Given the description of an element on the screen output the (x, y) to click on. 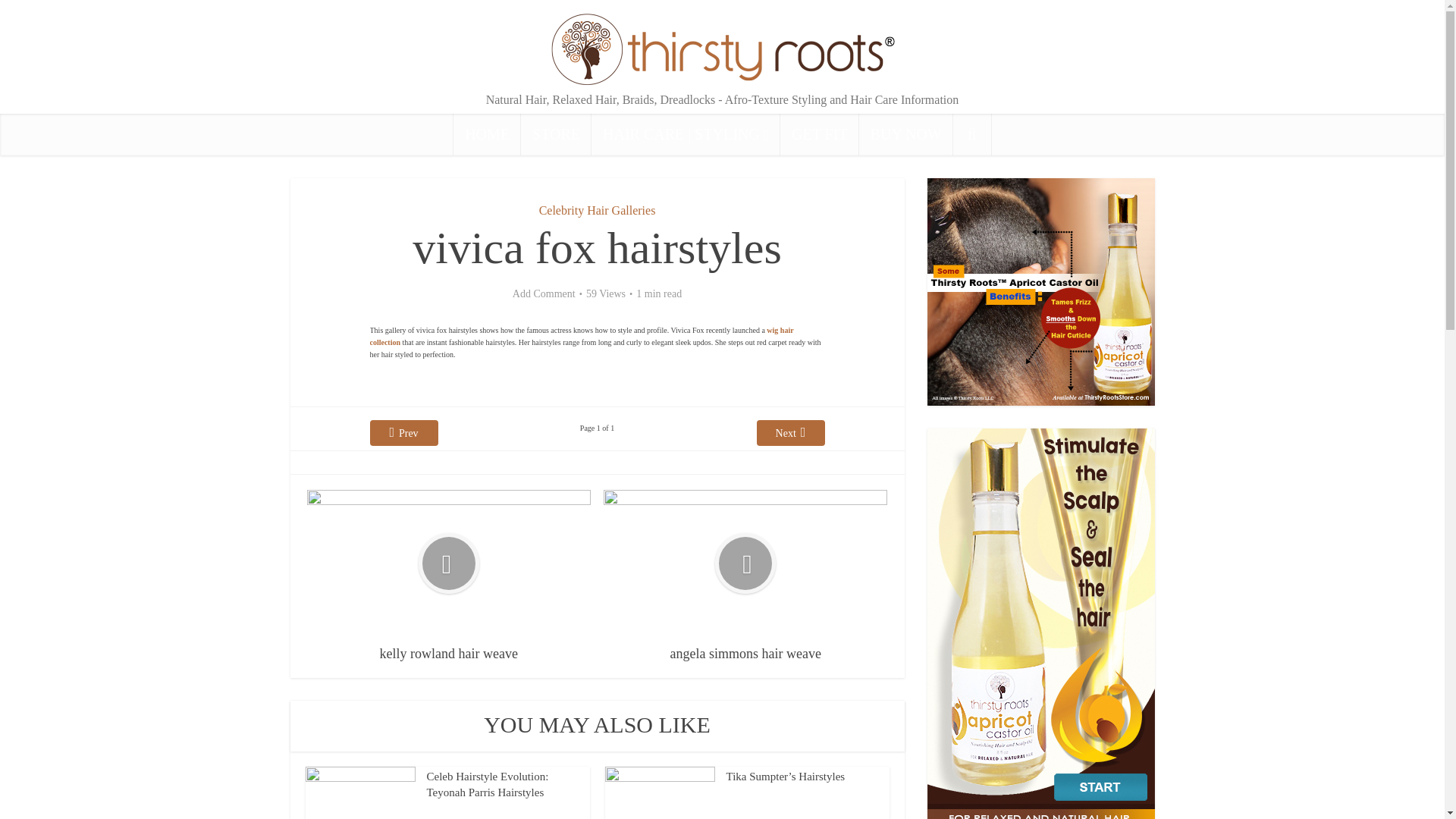
Next (791, 432)
Celebrity Hair Galleries (597, 210)
HOME (486, 134)
STORE (556, 134)
BUY NOW (906, 134)
wig hair collection (581, 335)
GET FIT (819, 134)
kelly rowland hair weave (449, 575)
Prev (403, 432)
Vivica Fox Wig Line (581, 335)
